Given the description of an element on the screen output the (x, y) to click on. 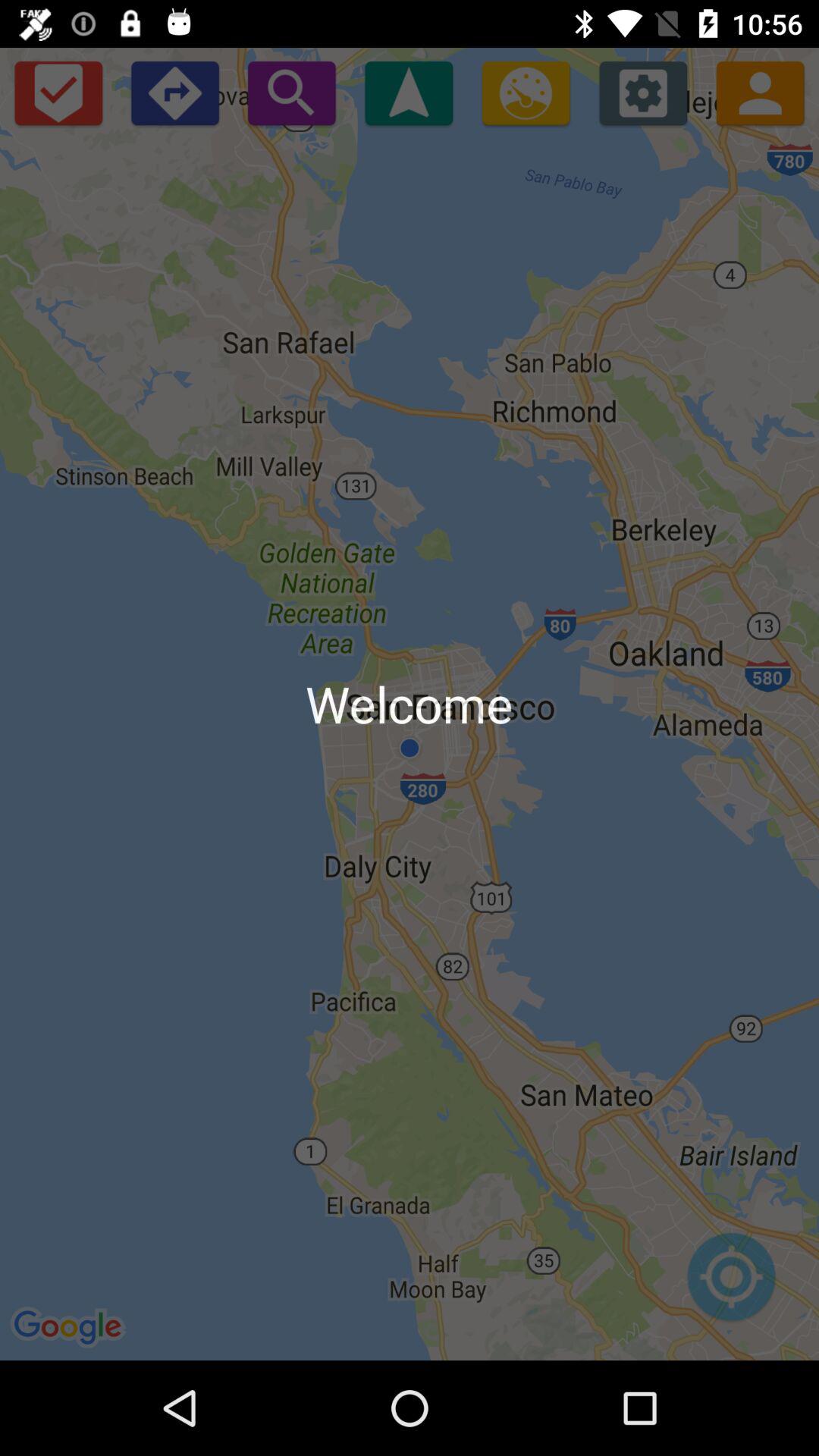
turn off icon at the bottom right corner (731, 1284)
